Given the description of an element on the screen output the (x, y) to click on. 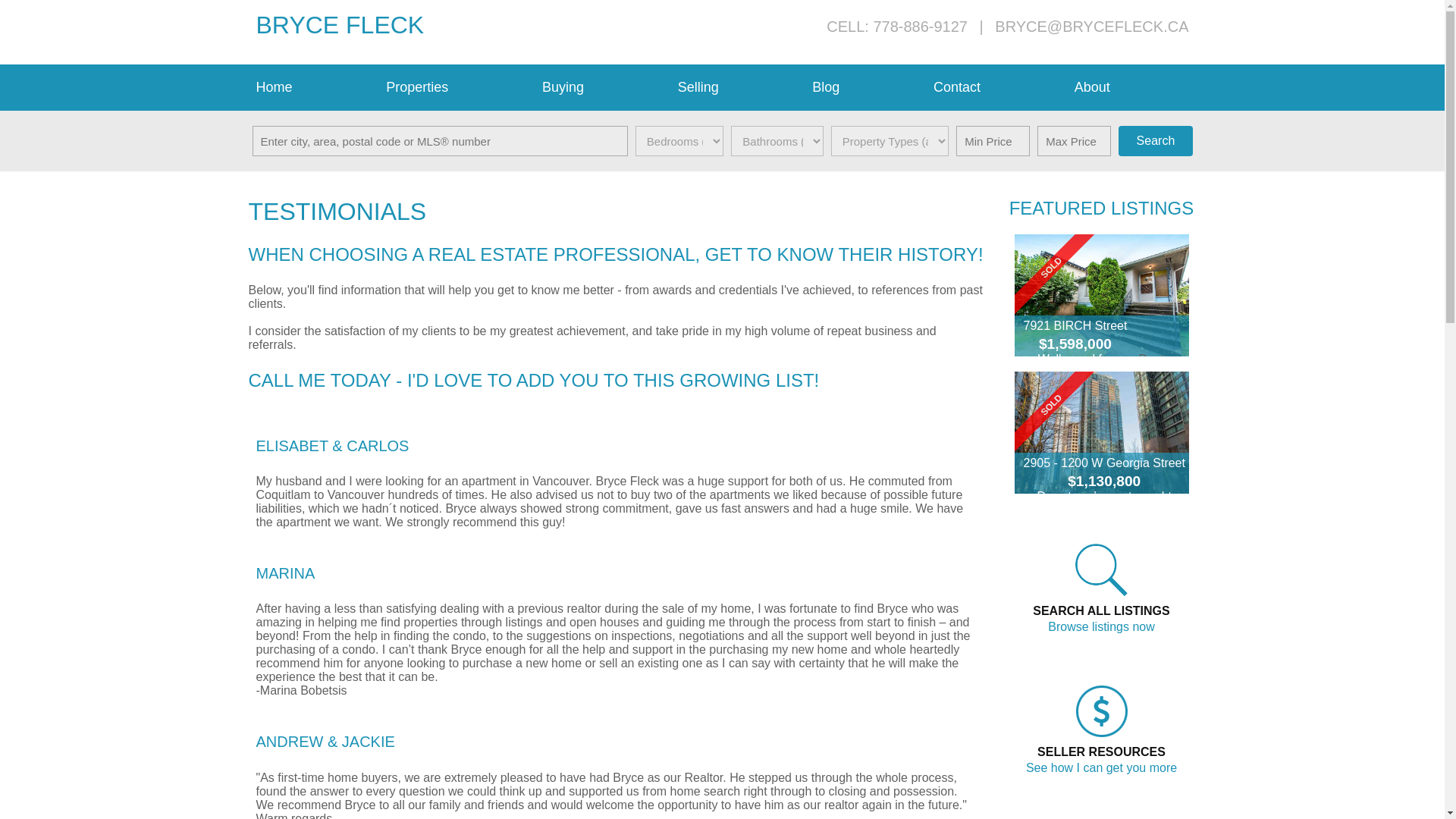
Search (1155, 141)
Contact (996, 87)
Selling (737, 87)
Buying (601, 87)
About (1131, 87)
Home (313, 87)
Properties (456, 87)
See how I can get you more (1101, 767)
Blog (865, 87)
Browse listings now (1101, 626)
